Given the description of an element on the screen output the (x, y) to click on. 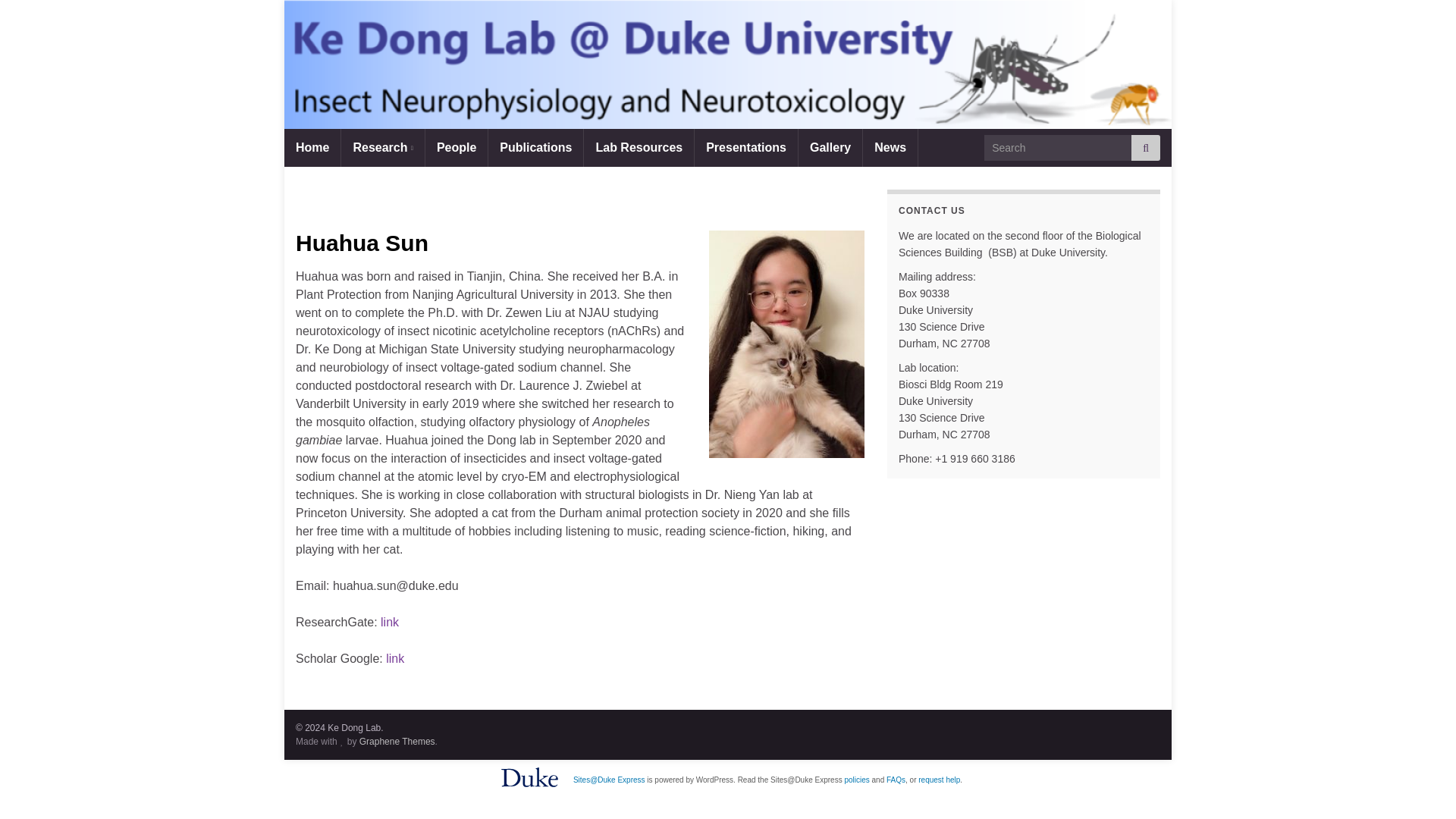
Publications (535, 147)
Lab Resources (638, 147)
Presentations (745, 147)
request help (938, 779)
Research (381, 147)
link (389, 621)
People (456, 147)
News (890, 147)
Home (311, 147)
link (394, 658)
Gallery (829, 147)
policies (856, 779)
Visit Duke.edu (529, 775)
